Given the description of an element on the screen output the (x, y) to click on. 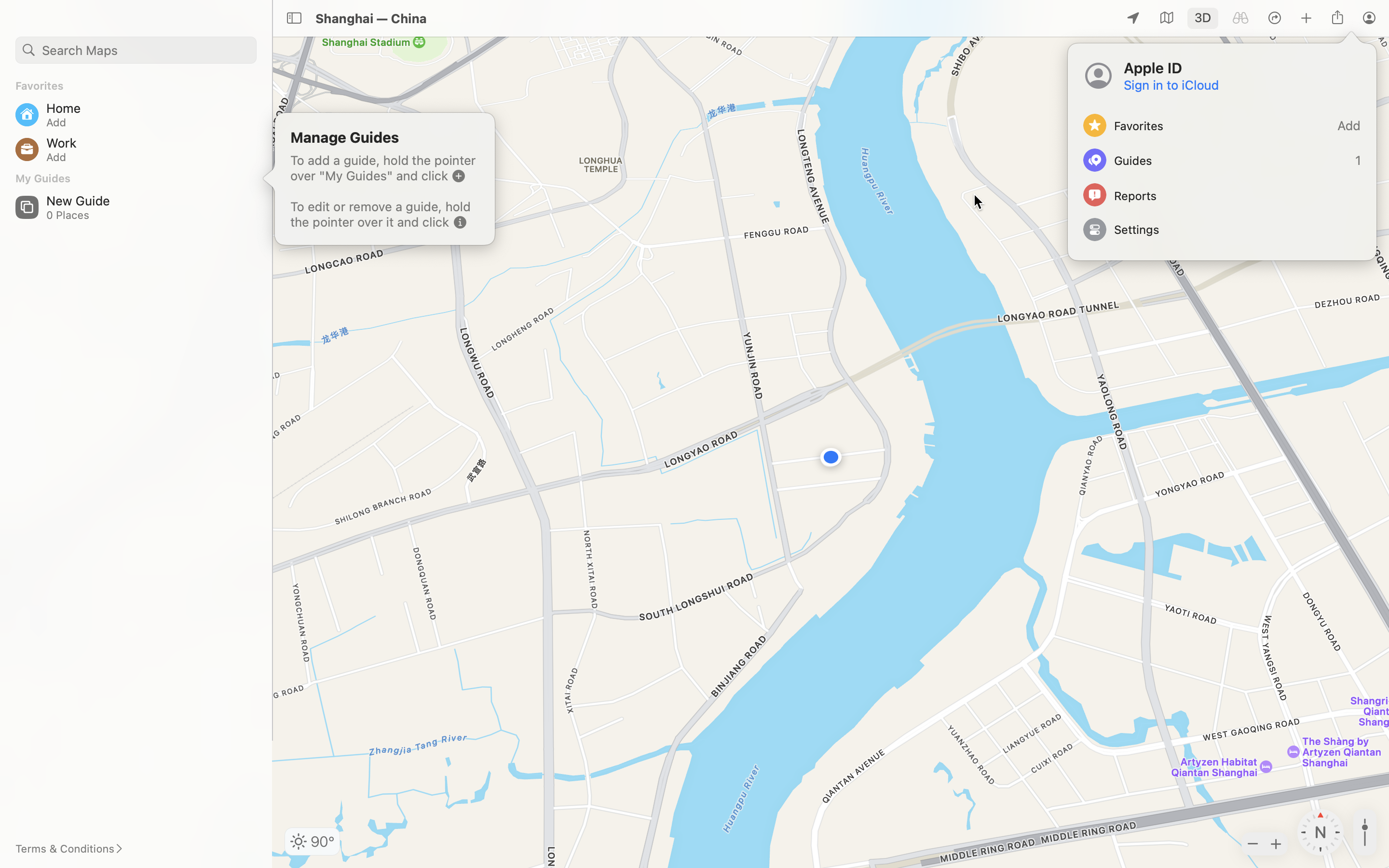
1 Element type: AXCheckBox (1202, 18)
Add Element type: AXButton (1221, 125)
0 Element type: AXCheckBox (1240, 18)
1 Element type: AXButton (1221, 159)
